Given the description of an element on the screen output the (x, y) to click on. 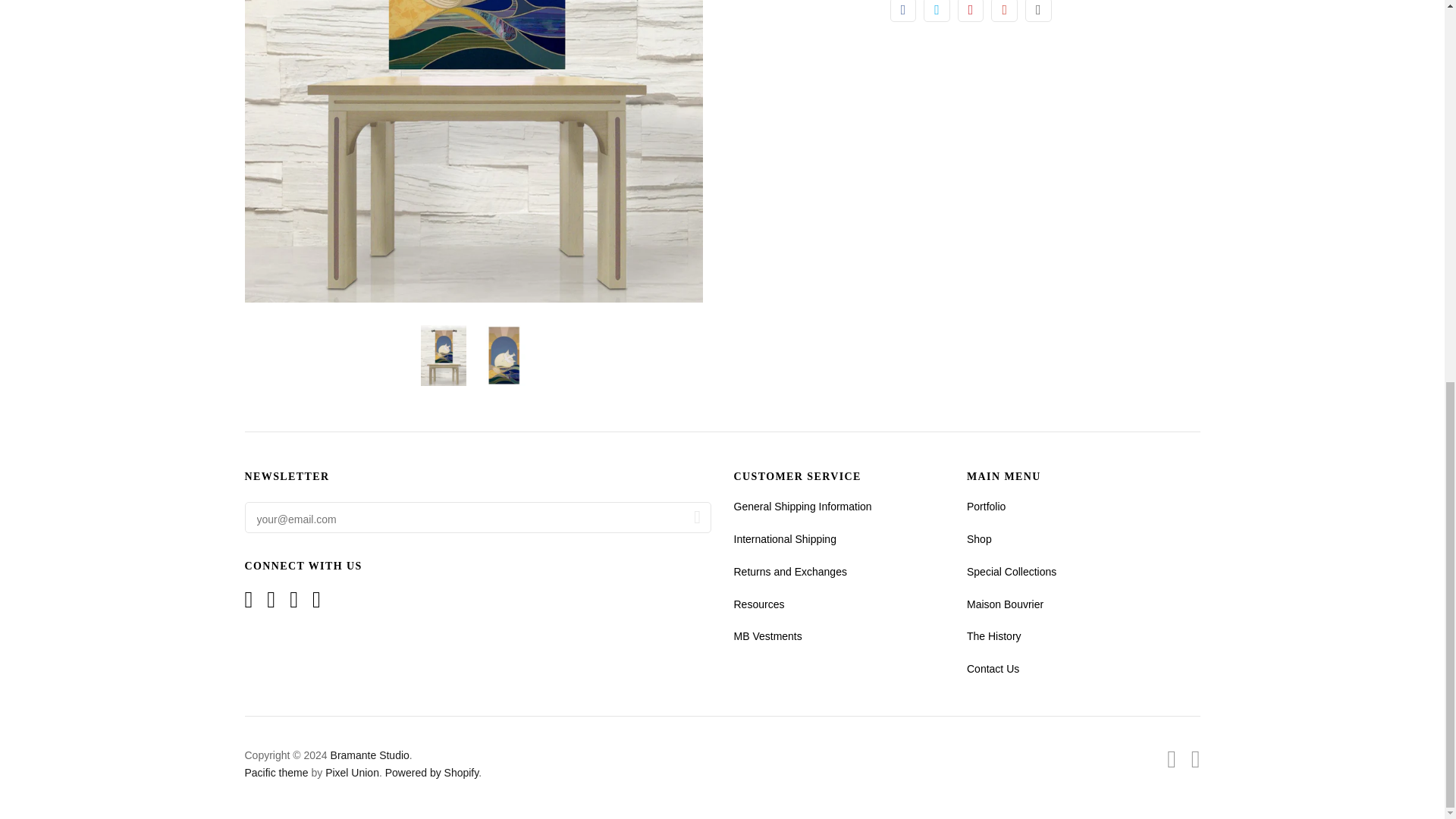
Like (903, 11)
Email (1038, 11)
Pin it (971, 11)
Tweet (936, 11)
